Given the description of an element on the screen output the (x, y) to click on. 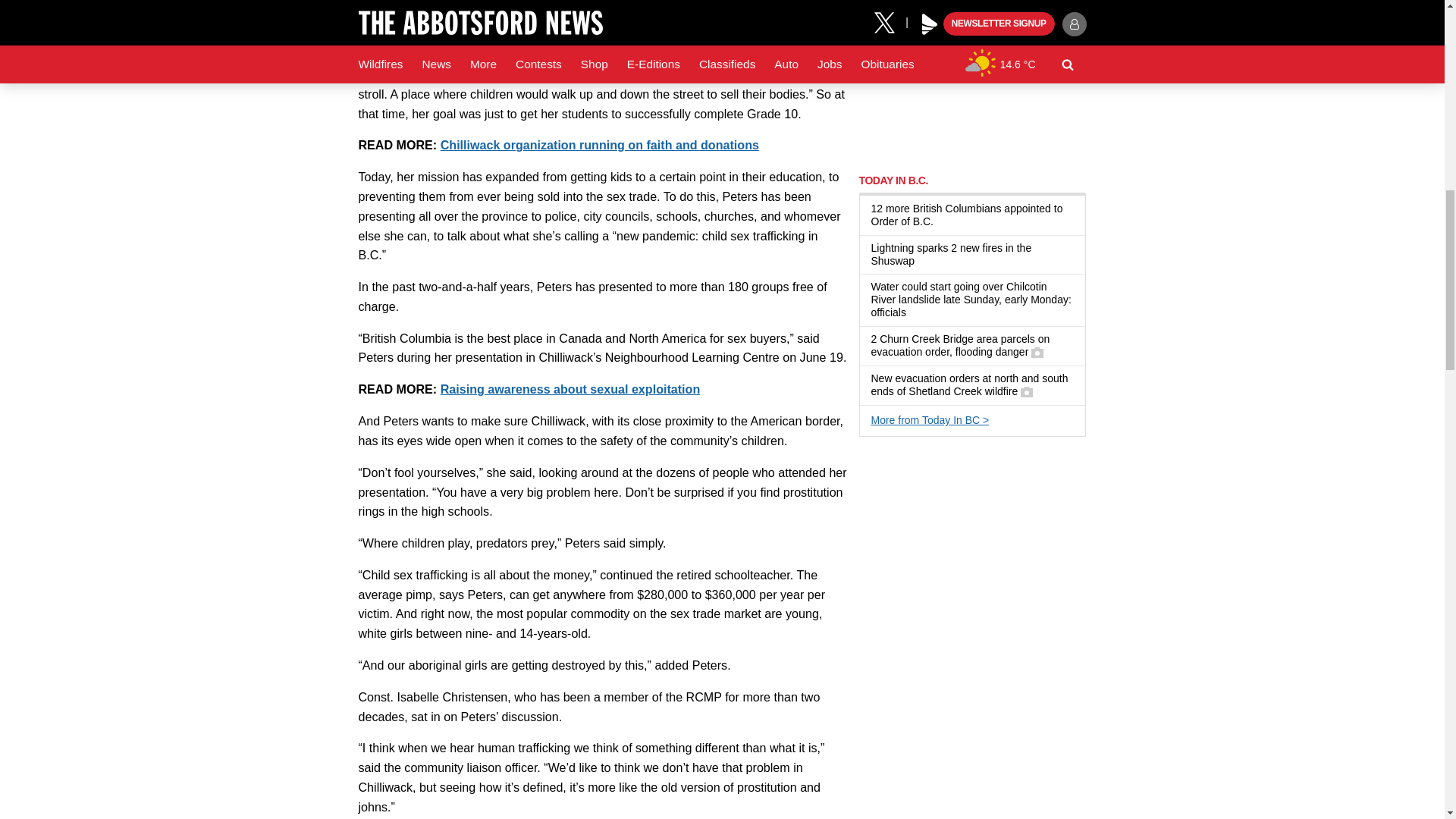
Has a gallery (1036, 352)
Has a gallery (1026, 391)
